Given the description of an element on the screen output the (x, y) to click on. 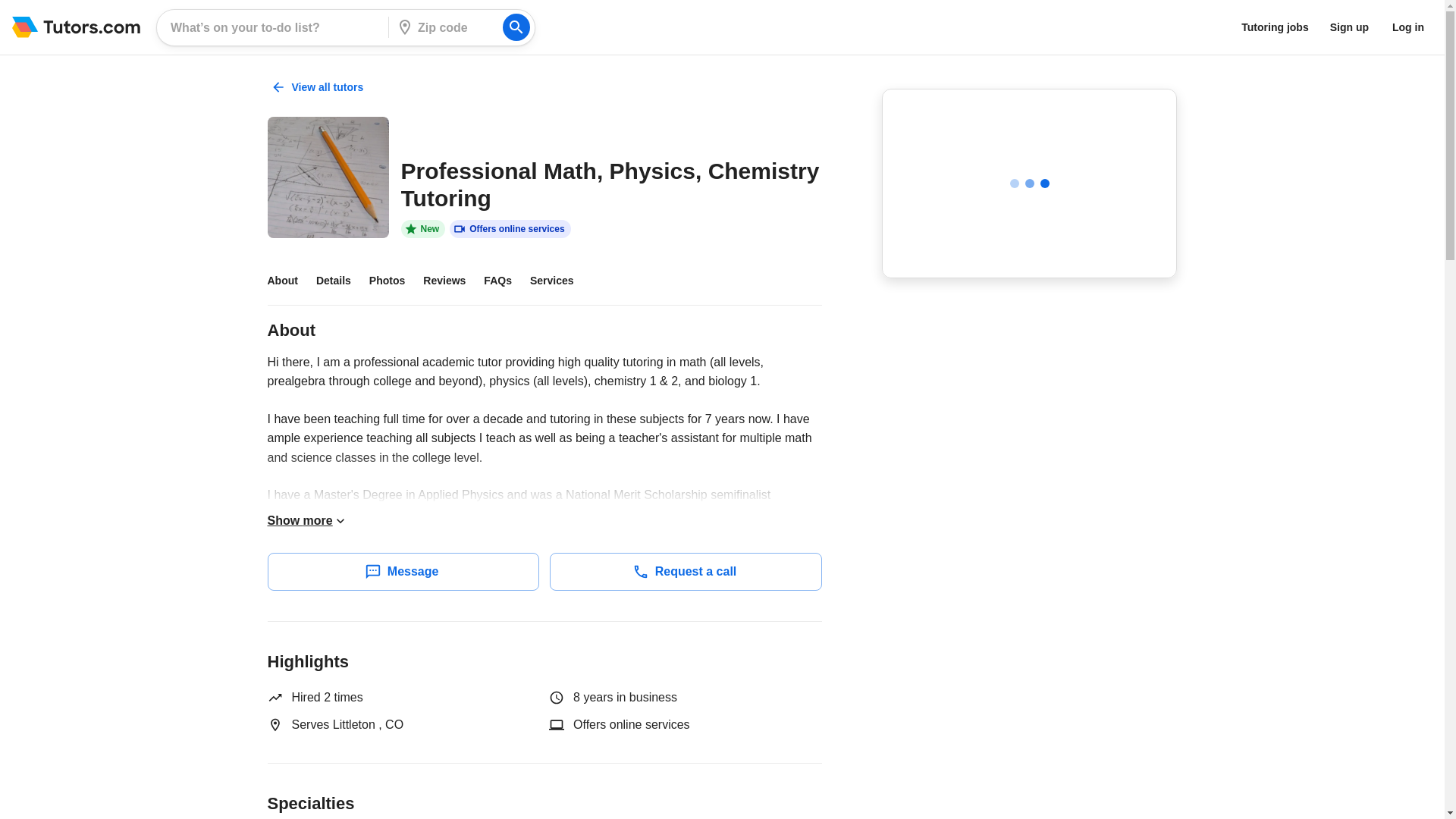
Services (560, 280)
Reviews (453, 280)
View all tutors (317, 85)
View all tutors (317, 87)
Tutoring jobs (1274, 27)
Professional Math, Physics, Chemistry Tutoring (327, 177)
Request a call (685, 570)
About (290, 280)
Details (342, 280)
Show more (306, 519)
Sign up (1348, 27)
Log in (1408, 27)
Connect with this tutor face-to-face over online video. (509, 229)
FAQs (506, 280)
